Given the description of an element on the screen output the (x, y) to click on. 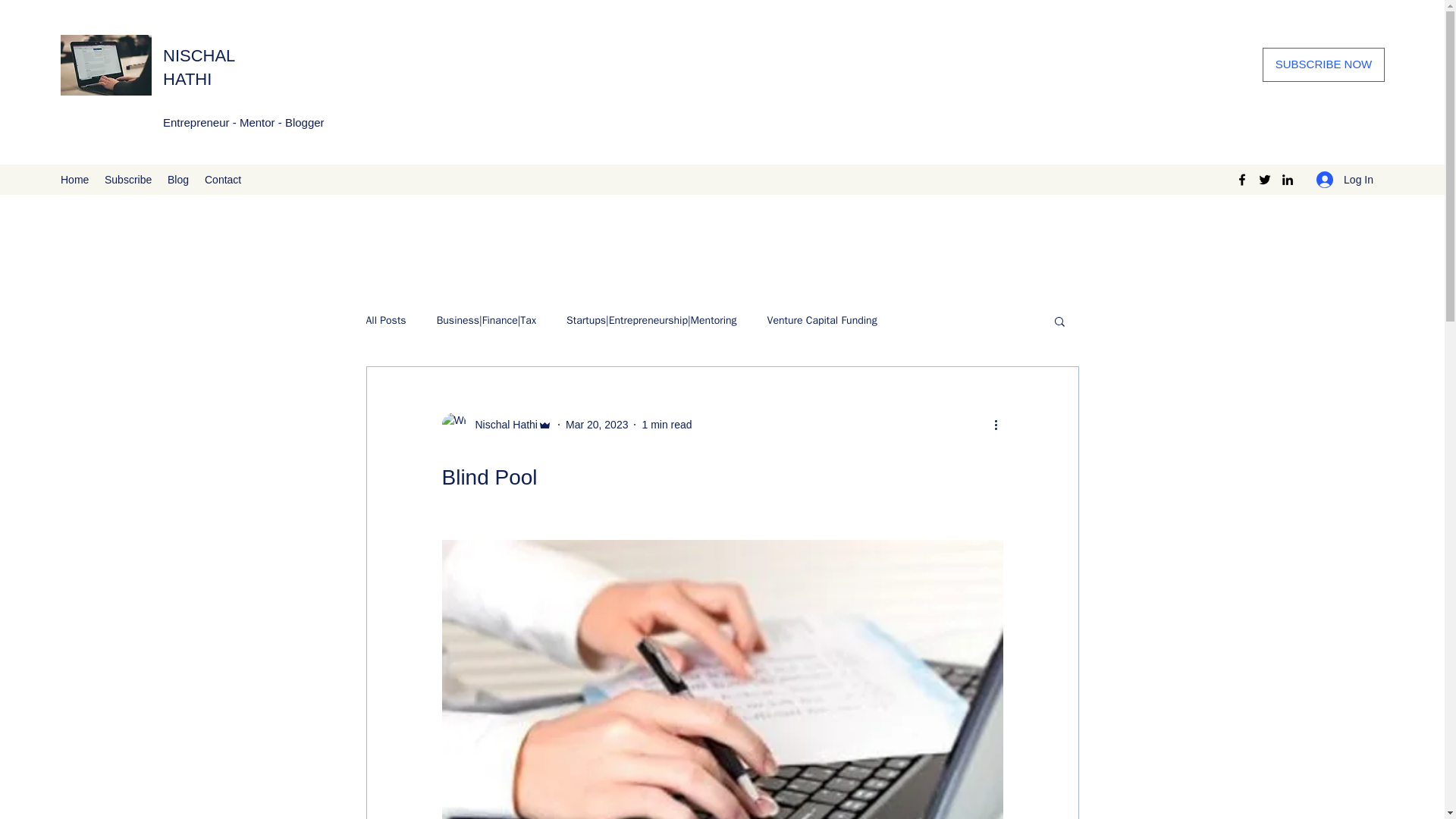
Nischal Hathi (496, 424)
All Posts (385, 320)
Log In (1345, 180)
Subscribe (128, 179)
Mar 20, 2023 (597, 424)
1 min read (666, 424)
Venture Capital Funding (822, 320)
Home (74, 179)
Nischal Hathi (501, 424)
SUBSCRIBE NOW (1323, 64)
Contact (223, 179)
Blog (178, 179)
